Given the description of an element on the screen output the (x, y) to click on. 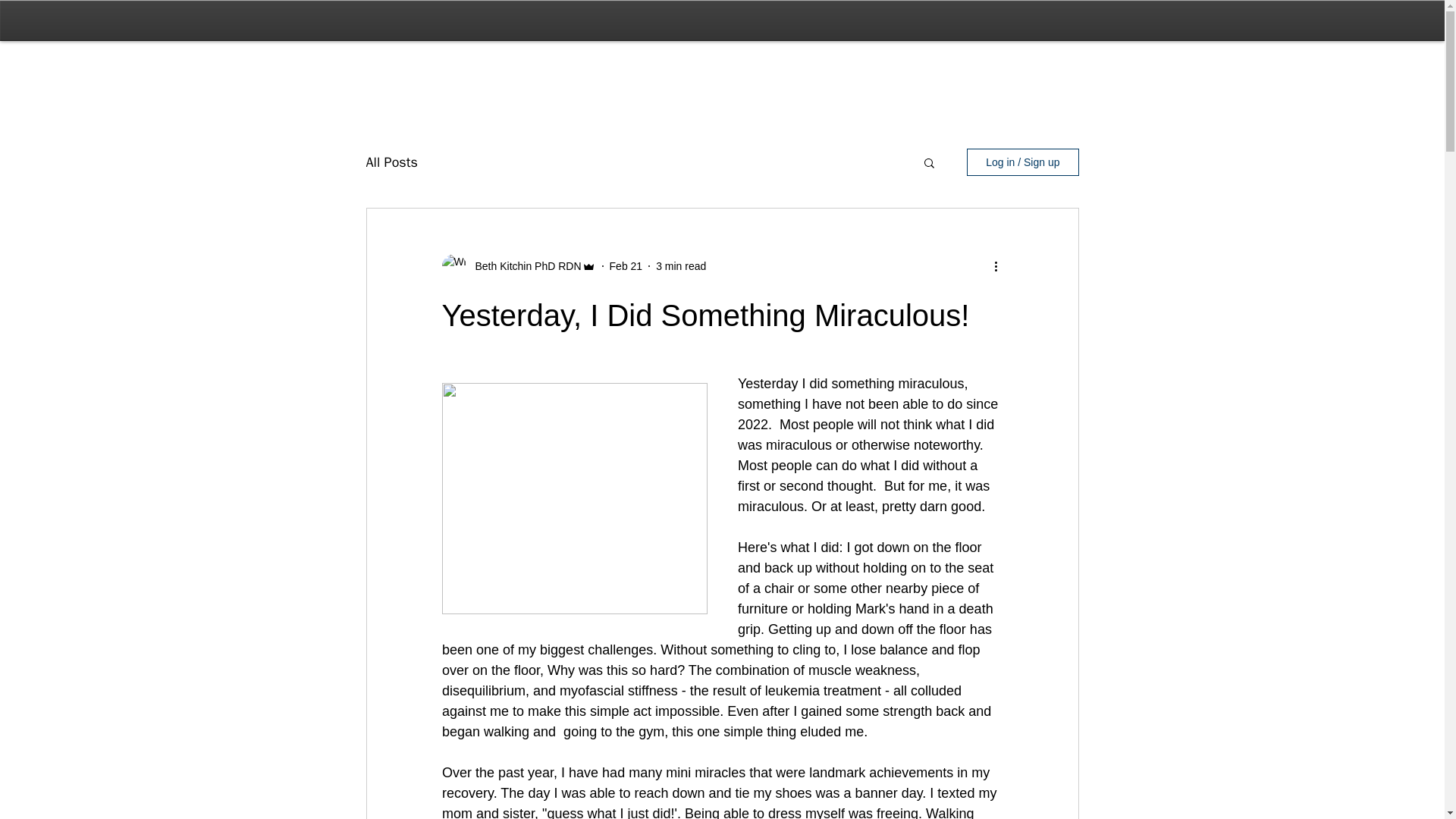
All Posts (390, 162)
3 min read (681, 265)
Beth Kitchin PhD RDN (522, 265)
Feb 21 (626, 265)
